Given the description of an element on the screen output the (x, y) to click on. 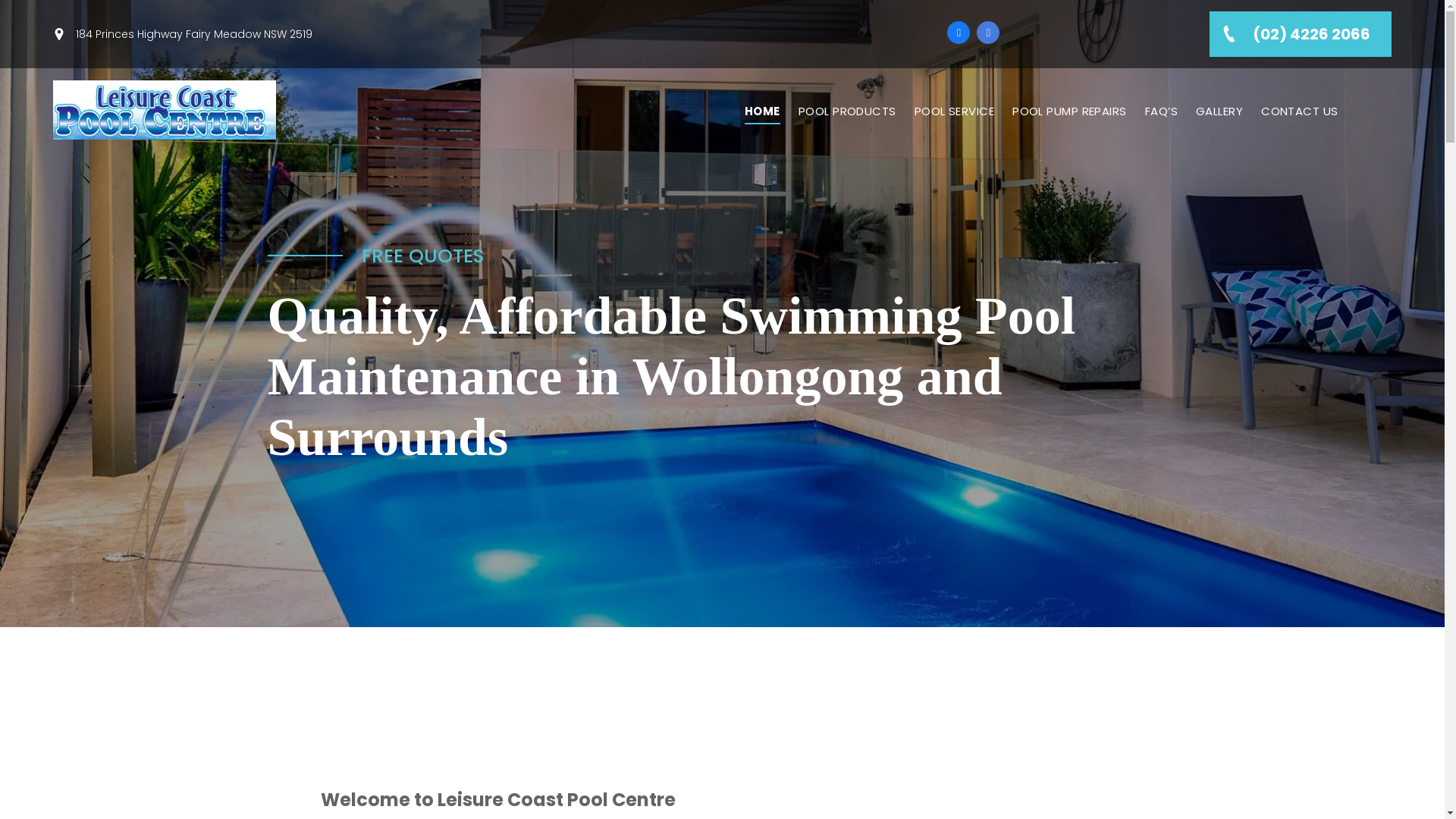
POOL PRODUCTS Element type: text (847, 111)
184 Princes Highway Fairy Meadow NSW 2519 Element type: text (193, 32)
Leisure Coast Pool Centre Element type: hover (164, 109)
POOL PUMP REPAIRS Element type: text (1069, 111)
CONTACT US Element type: text (1299, 111)
HOME Element type: text (762, 111)
POOL SERVICE Element type: text (954, 111)
GALLERY Element type: text (1219, 111)
(02) 4226 2066 Element type: text (1300, 33)
